Given the description of an element on the screen output the (x, y) to click on. 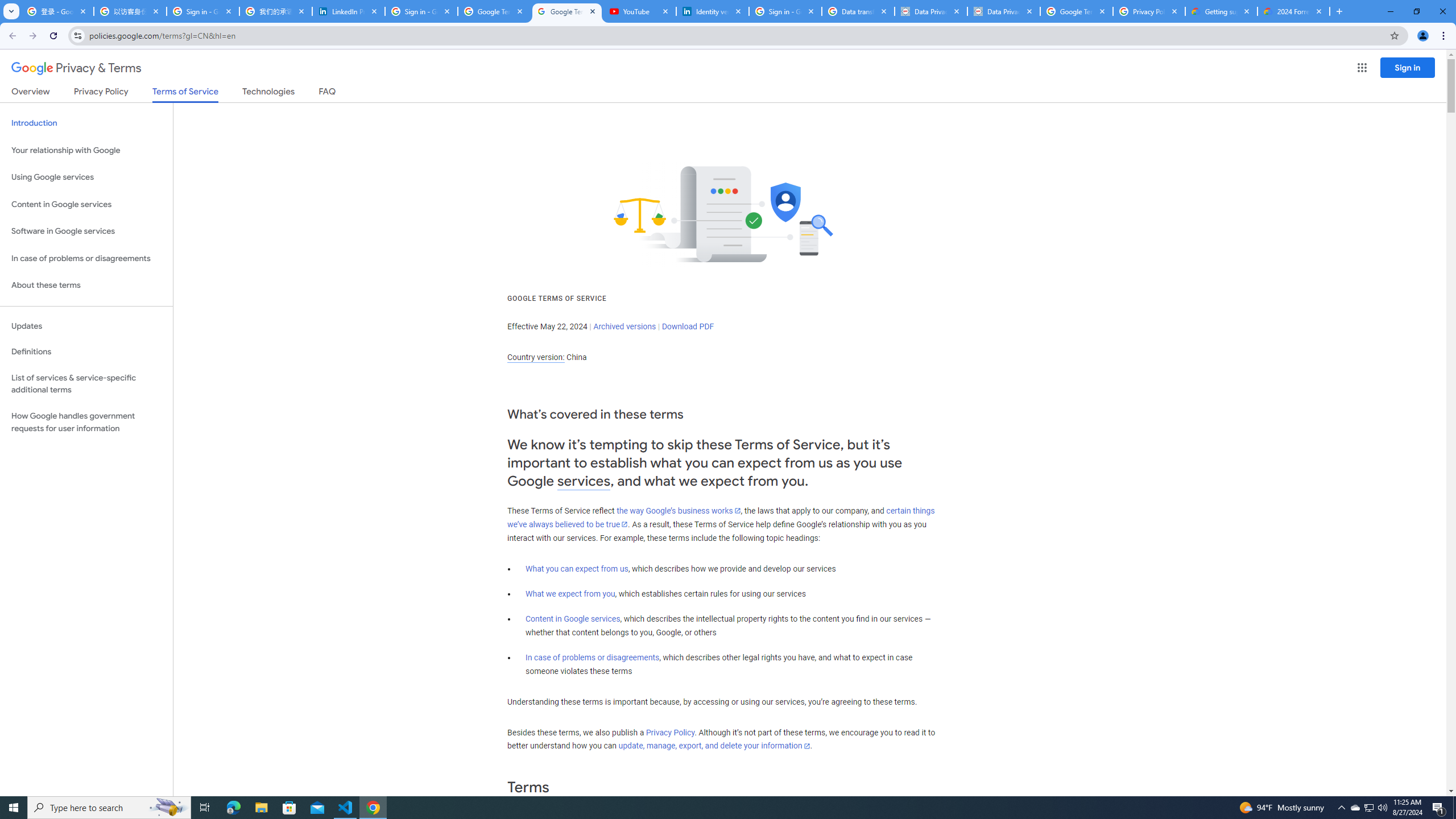
How Google handles government requests for user information (86, 422)
Technologies (268, 93)
New Tab (1338, 11)
What we expect from you (570, 593)
Google apps (1362, 67)
Bookmark this tab (1393, 35)
Sign in - Google Accounts (202, 11)
Your relationship with Google (86, 150)
System (6, 6)
View site information (77, 35)
Updates (86, 325)
Overview (30, 93)
